Given the description of an element on the screen output the (x, y) to click on. 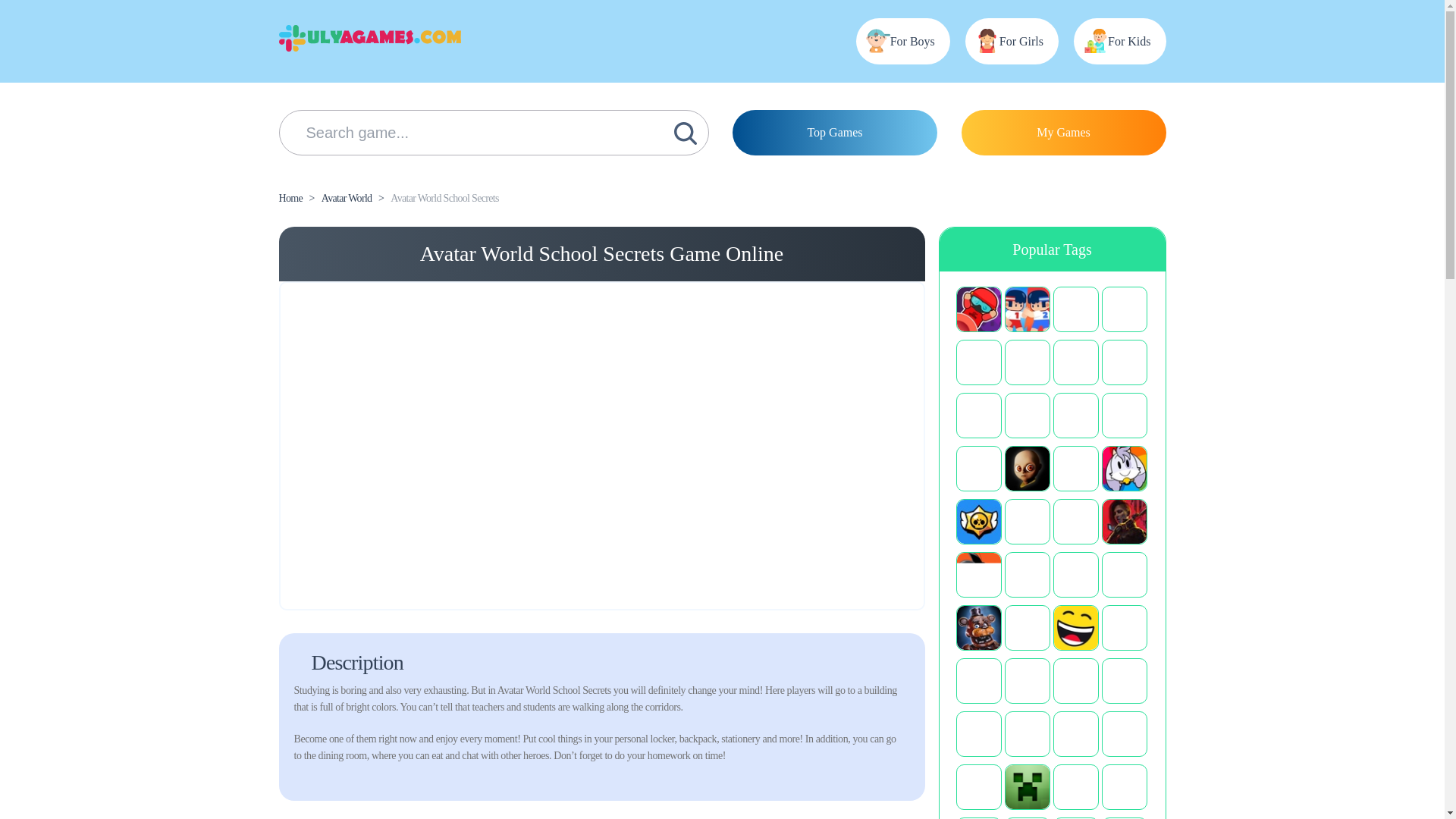
My Games (1063, 132)
For Girls (1011, 41)
For Kids (1120, 41)
Top Games (834, 132)
For Boys (903, 41)
